Given the description of an element on the screen output the (x, y) to click on. 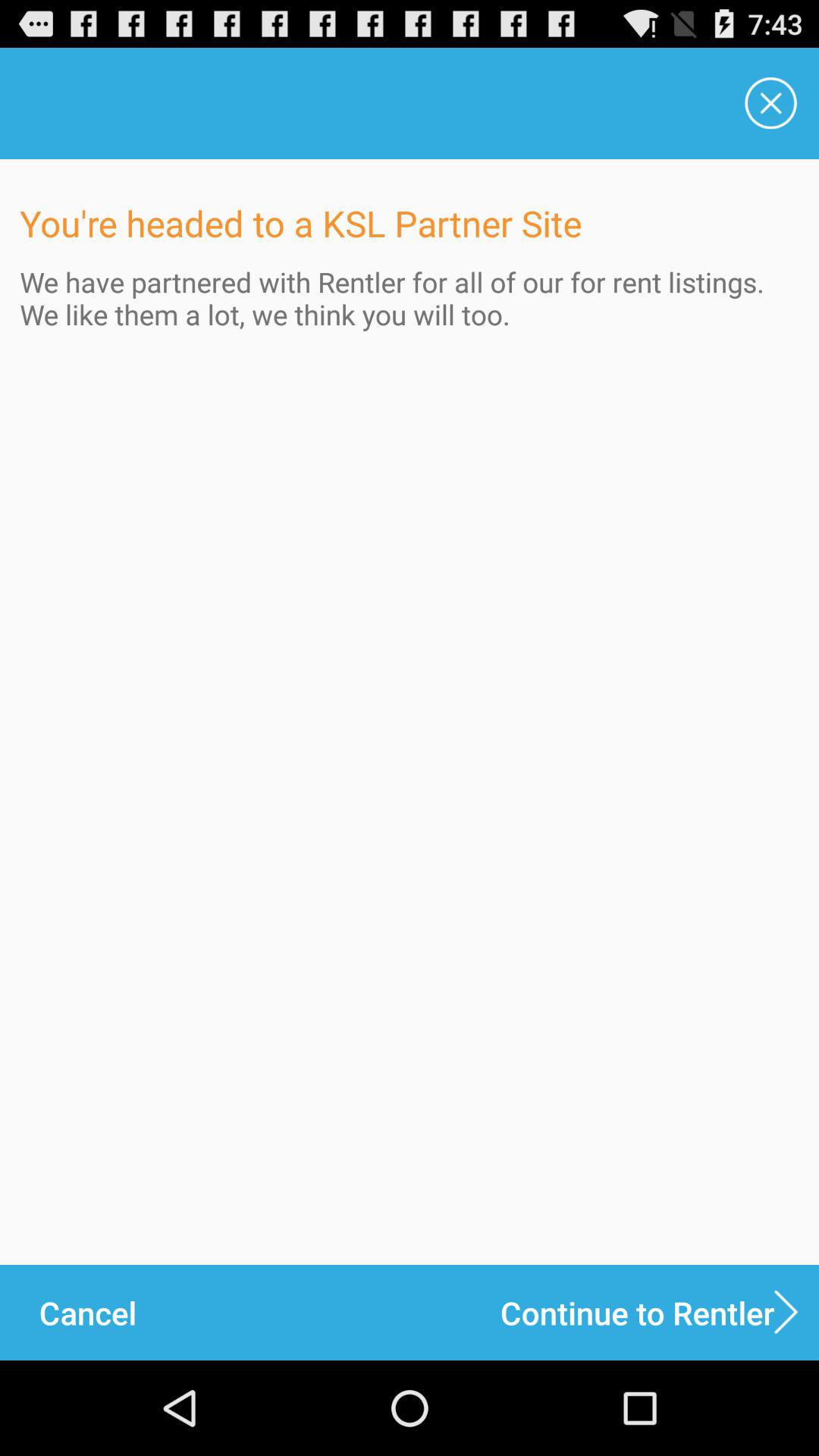
tap continue to rentler item (659, 1312)
